Given the description of an element on the screen output the (x, y) to click on. 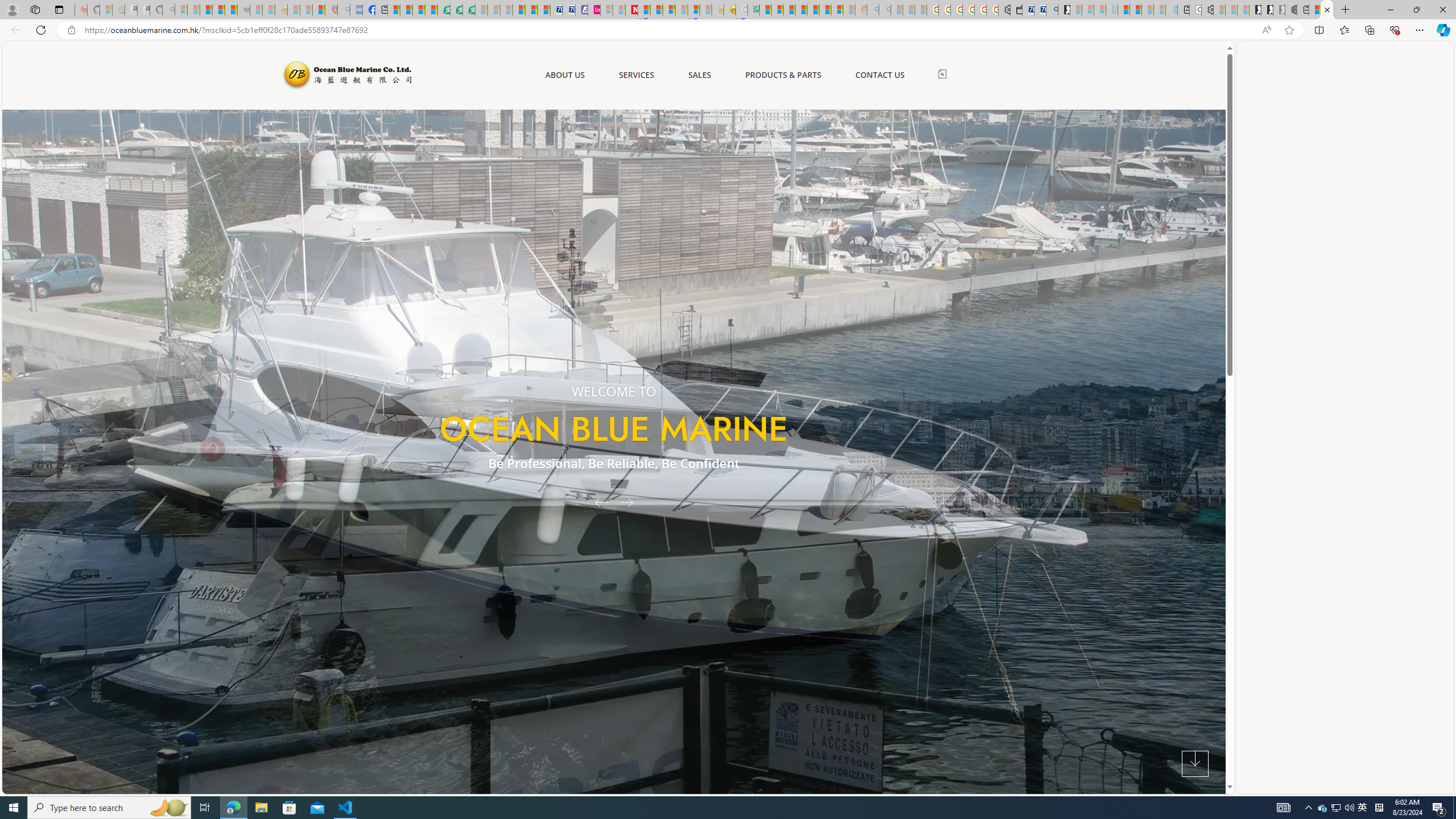
Next Section (1195, 764)
PRODUCTS & PARTS (783, 75)
